Given the description of an element on the screen output the (x, y) to click on. 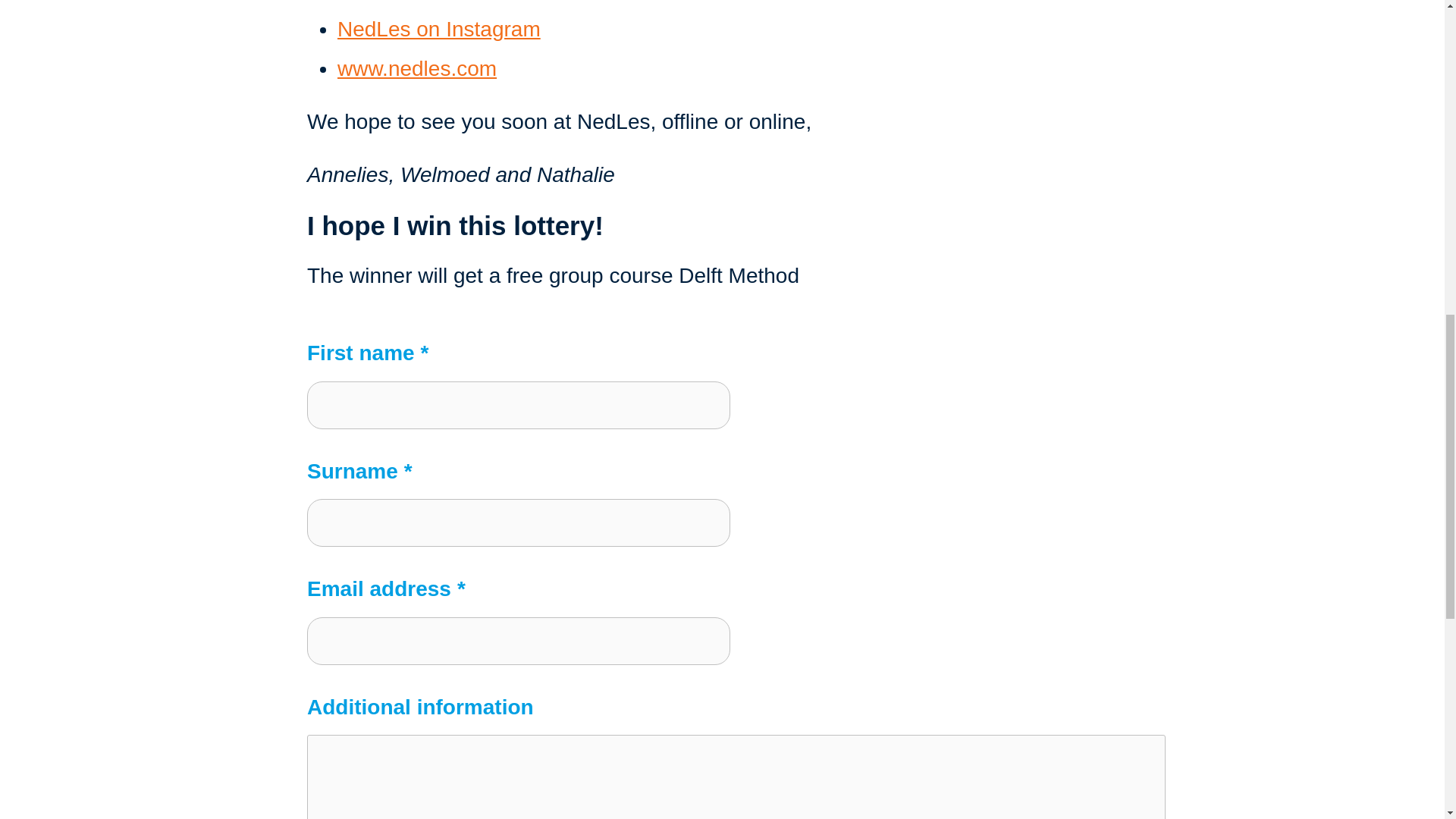
NedLes on Instagram (438, 28)
www.nedles.com (416, 68)
